Given the description of an element on the screen output the (x, y) to click on. 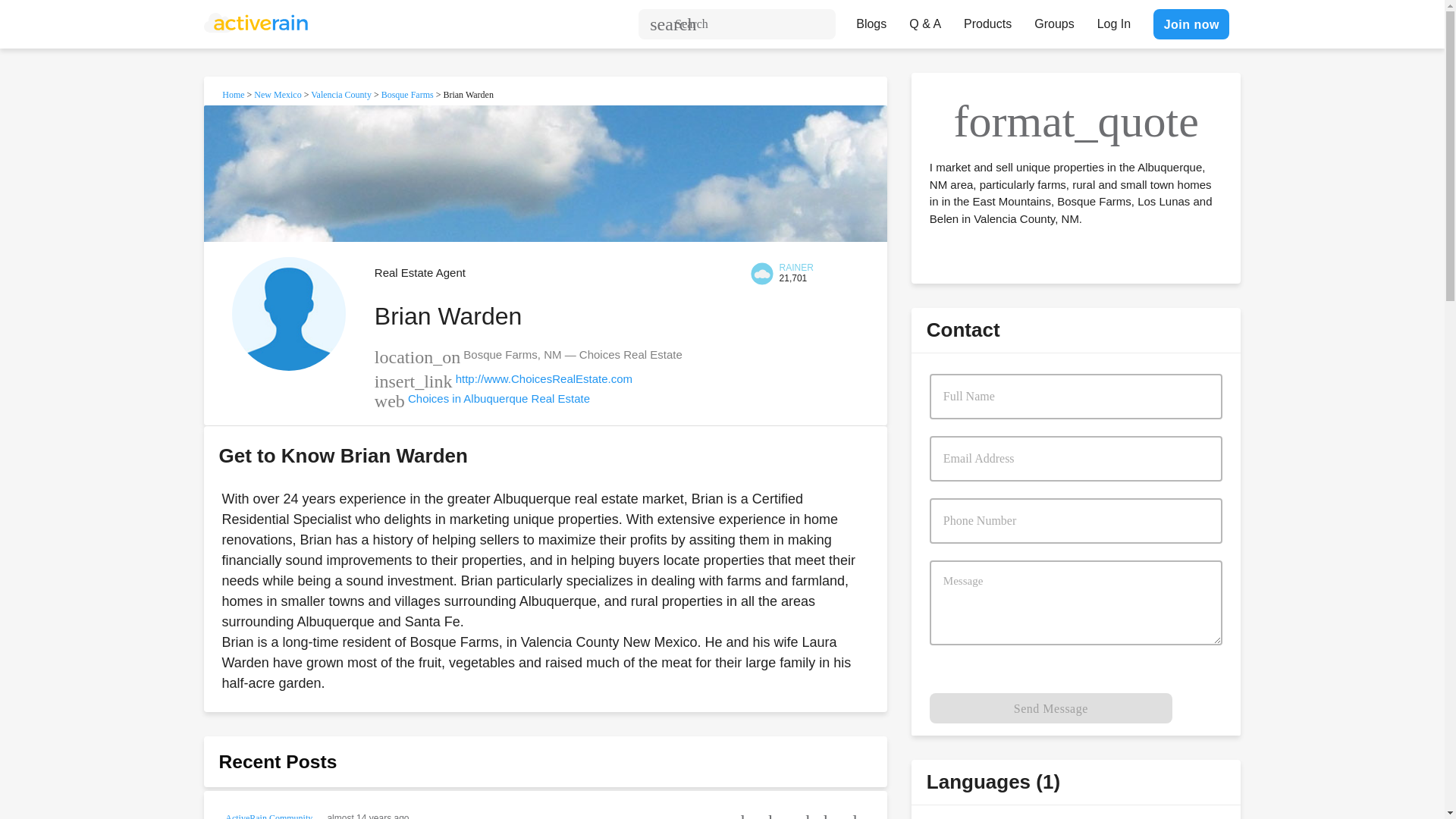
web Choices in Albuquerque Real Estate (481, 398)
Home (233, 94)
Products (986, 19)
ActiveRain Community (270, 814)
Groups (1053, 19)
Recent Posts (277, 761)
Join now (1190, 24)
Blogs (870, 19)
New Mexico (277, 94)
Valencia County (341, 94)
